Given the description of an element on the screen output the (x, y) to click on. 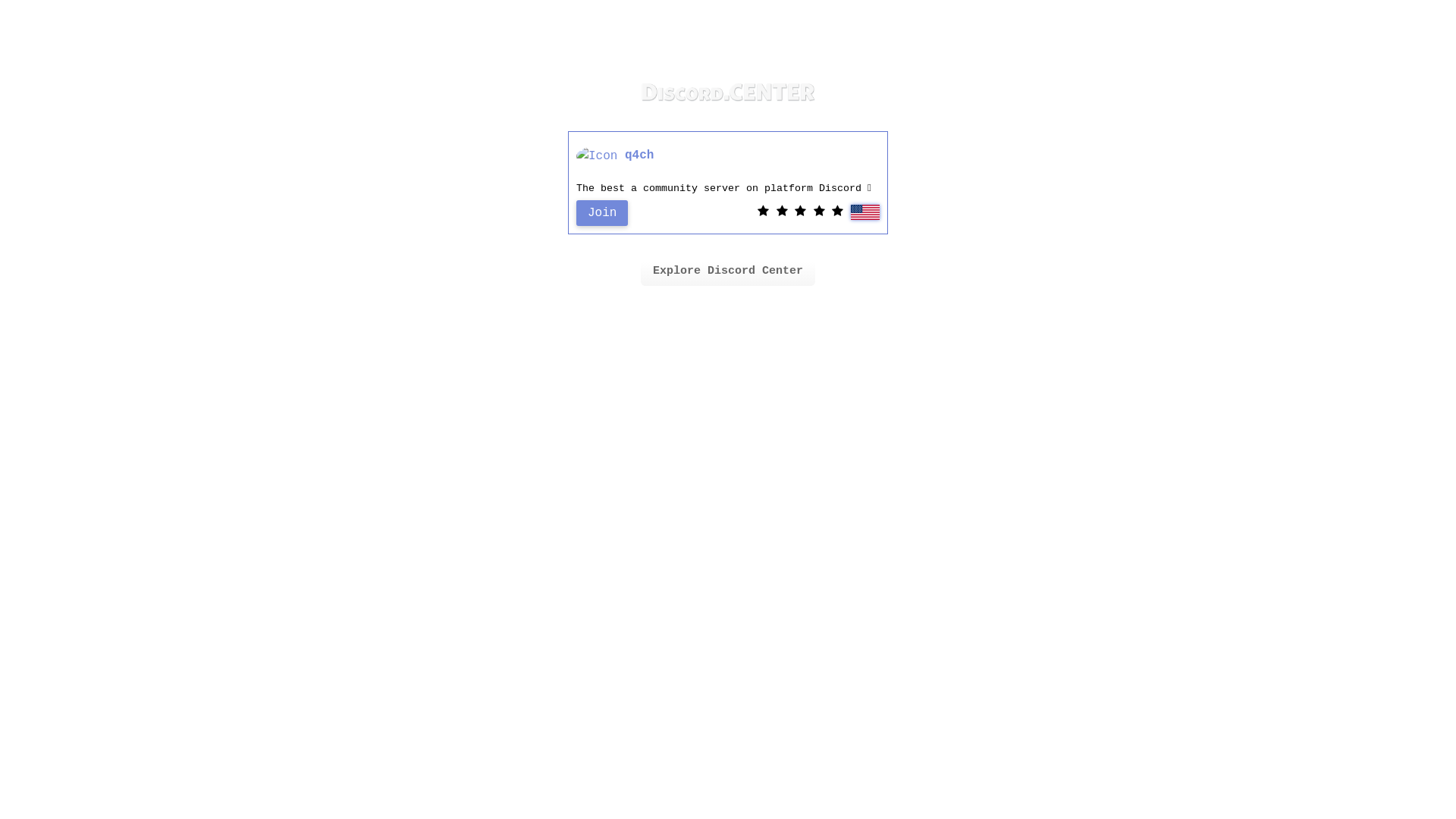
Join Element type: text (601, 212)
Explore Discord Center Element type: text (727, 271)
q4ch Element type: text (638, 155)
